Given the description of an element on the screen output the (x, y) to click on. 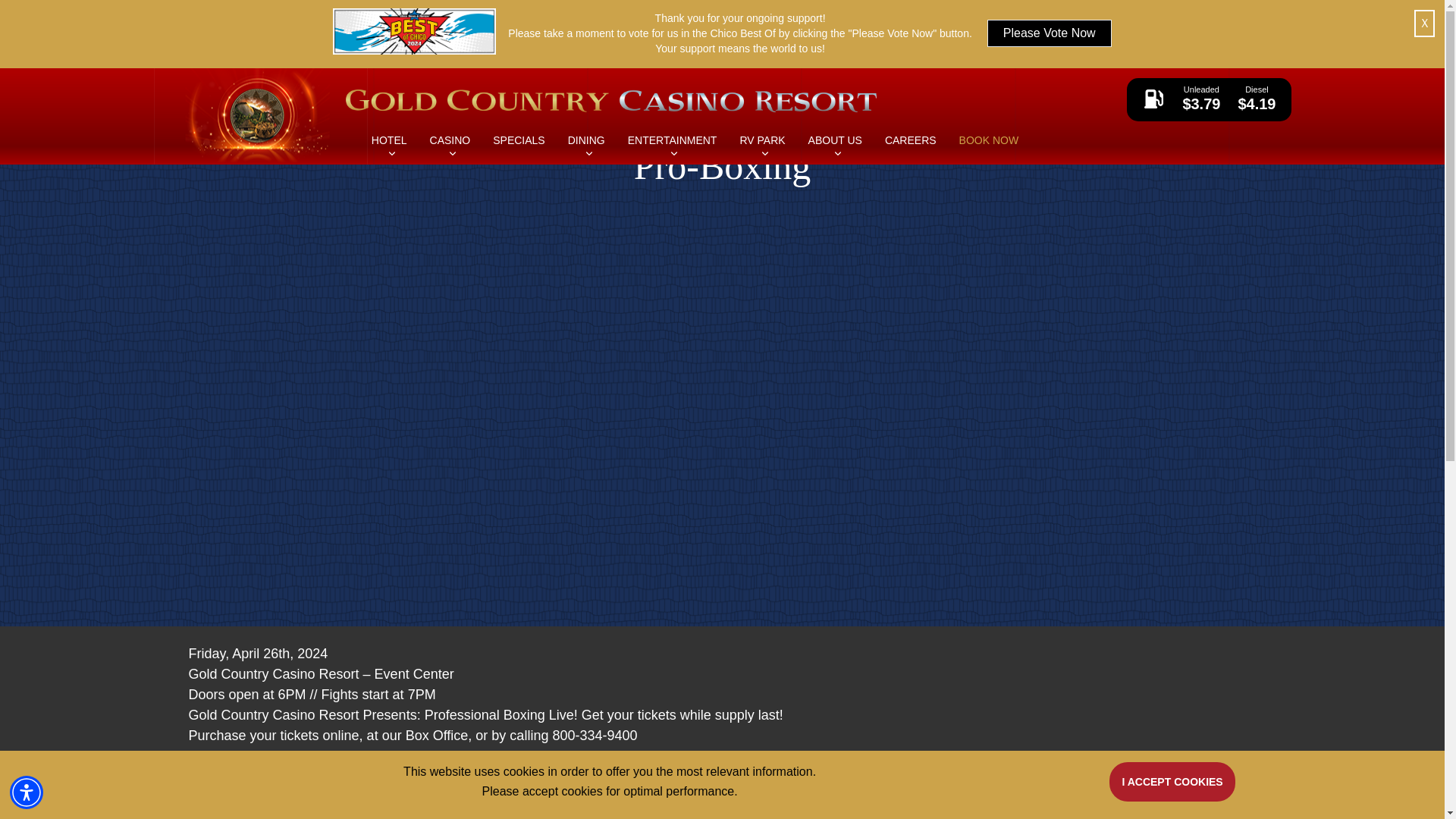
X (1423, 22)
Return to Homepage (259, 113)
DINING (586, 164)
ENTERTAINMENT (672, 164)
SPECIALS (518, 164)
CASINO (449, 164)
HOTEL (389, 164)
RV PARK (761, 164)
Accessibility Menu (26, 792)
ABOUT US (834, 164)
Please Vote Now (1049, 32)
